Given the description of an element on the screen output the (x, y) to click on. 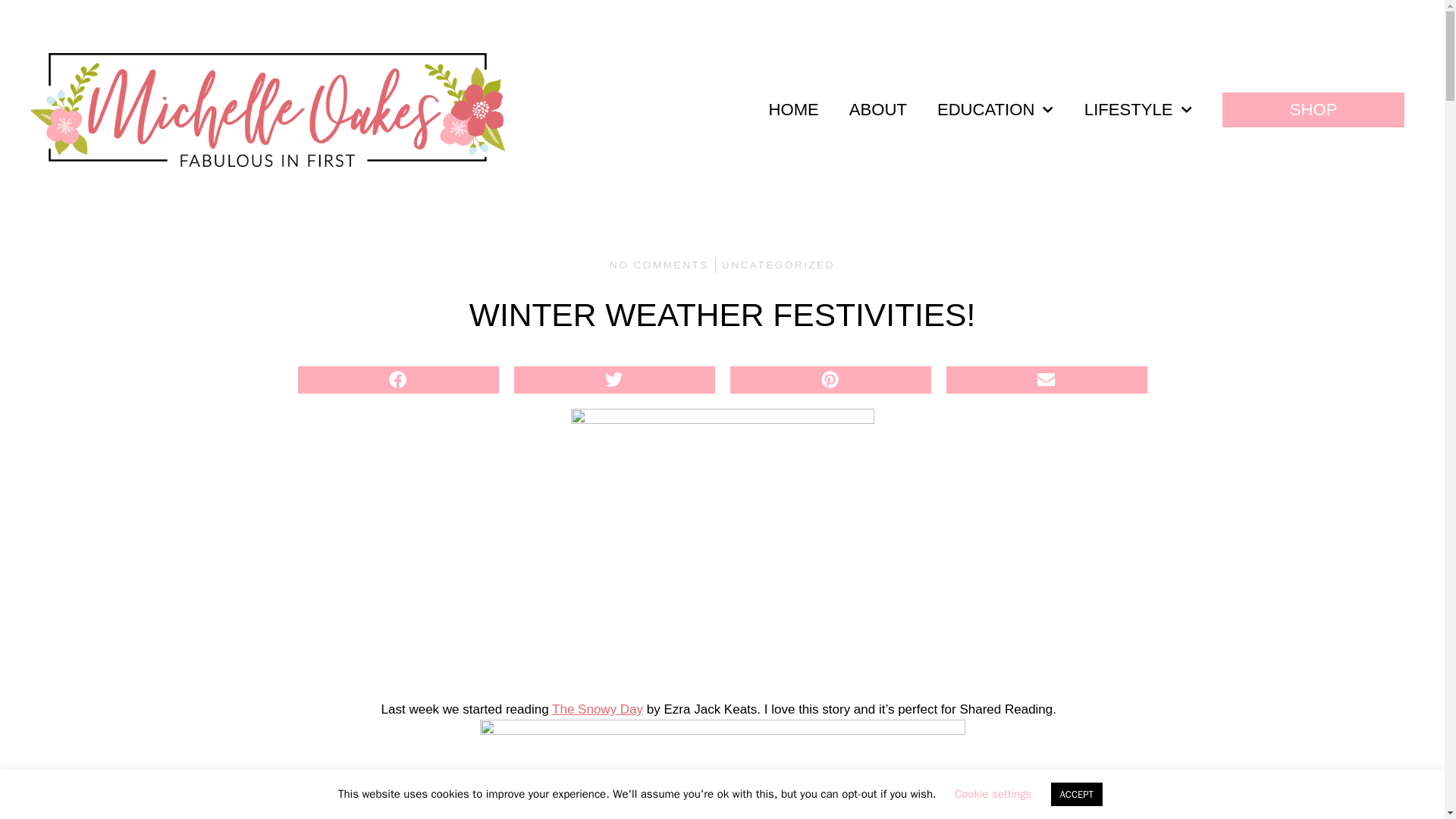
EDUCATION (994, 109)
LIFESTYLE (1137, 109)
HOME (794, 109)
ABOUT (877, 109)
